Given the description of an element on the screen output the (x, y) to click on. 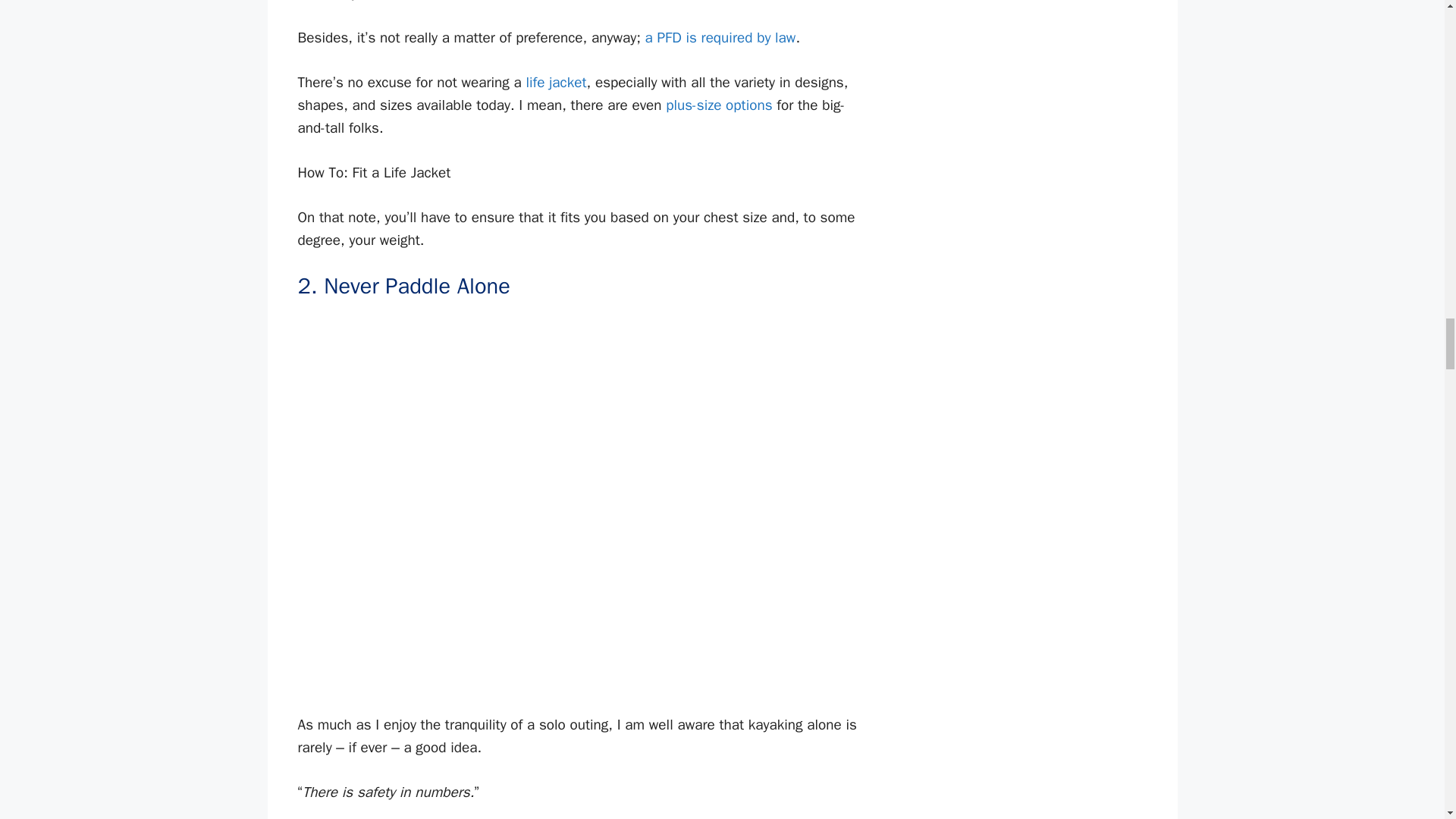
How To: Fit a Life Jacket (579, 172)
